Given the description of an element on the screen output the (x, y) to click on. 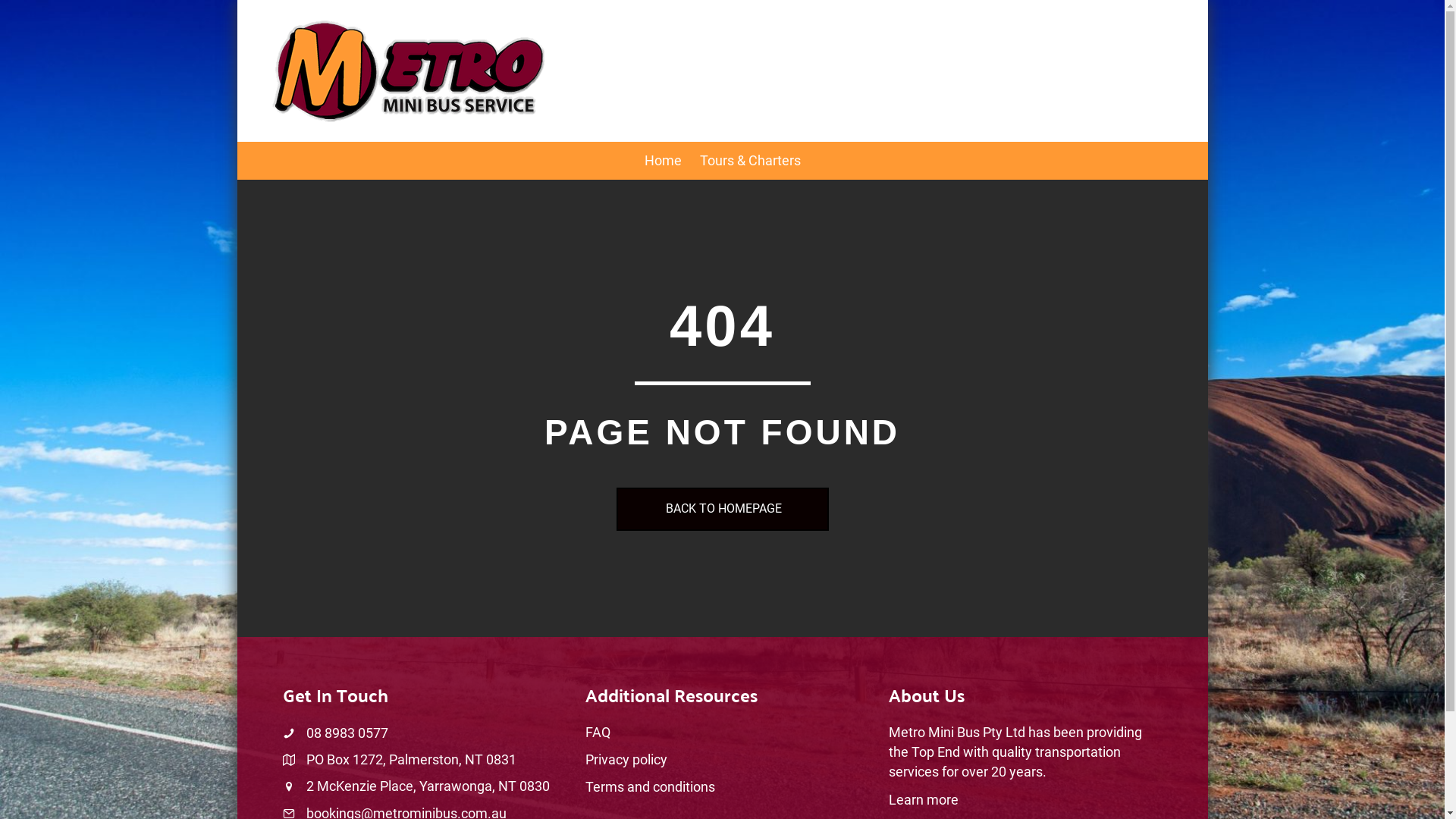
Tours & Charters Element type: text (749, 160)
Home Element type: text (662, 160)
logo-metro Element type: hover (407, 70)
Terms and conditions Element type: text (650, 786)
Learn more Element type: text (923, 799)
Privacy policy Element type: text (626, 759)
08 8983 0577 Element type: text (347, 732)
BACK TO HOMEPAGE Element type: text (721, 508)
FAQ Element type: text (597, 732)
